Given the description of an element on the screen output the (x, y) to click on. 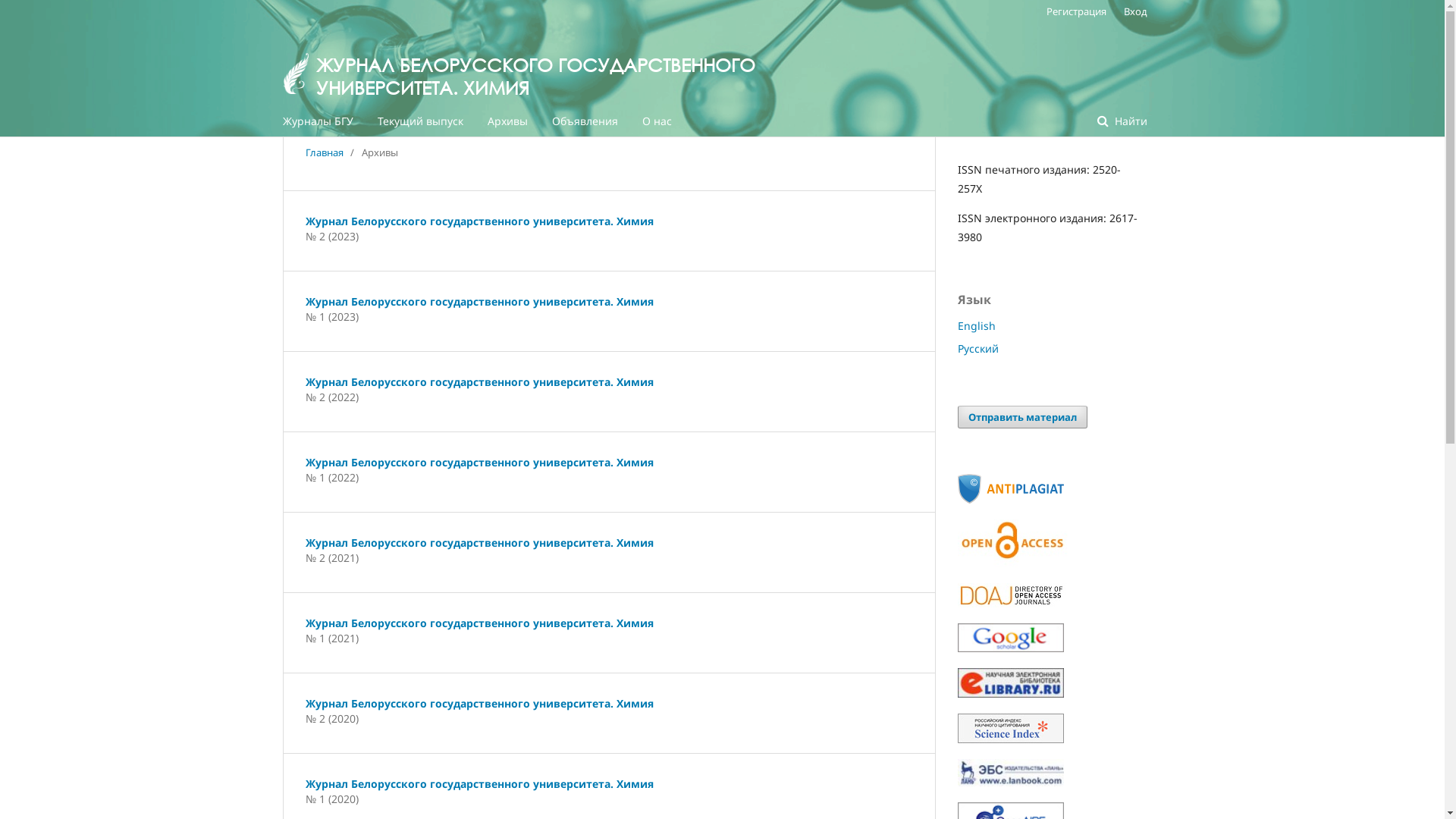
English Element type: text (975, 325)
